Given the description of an element on the screen output the (x, y) to click on. 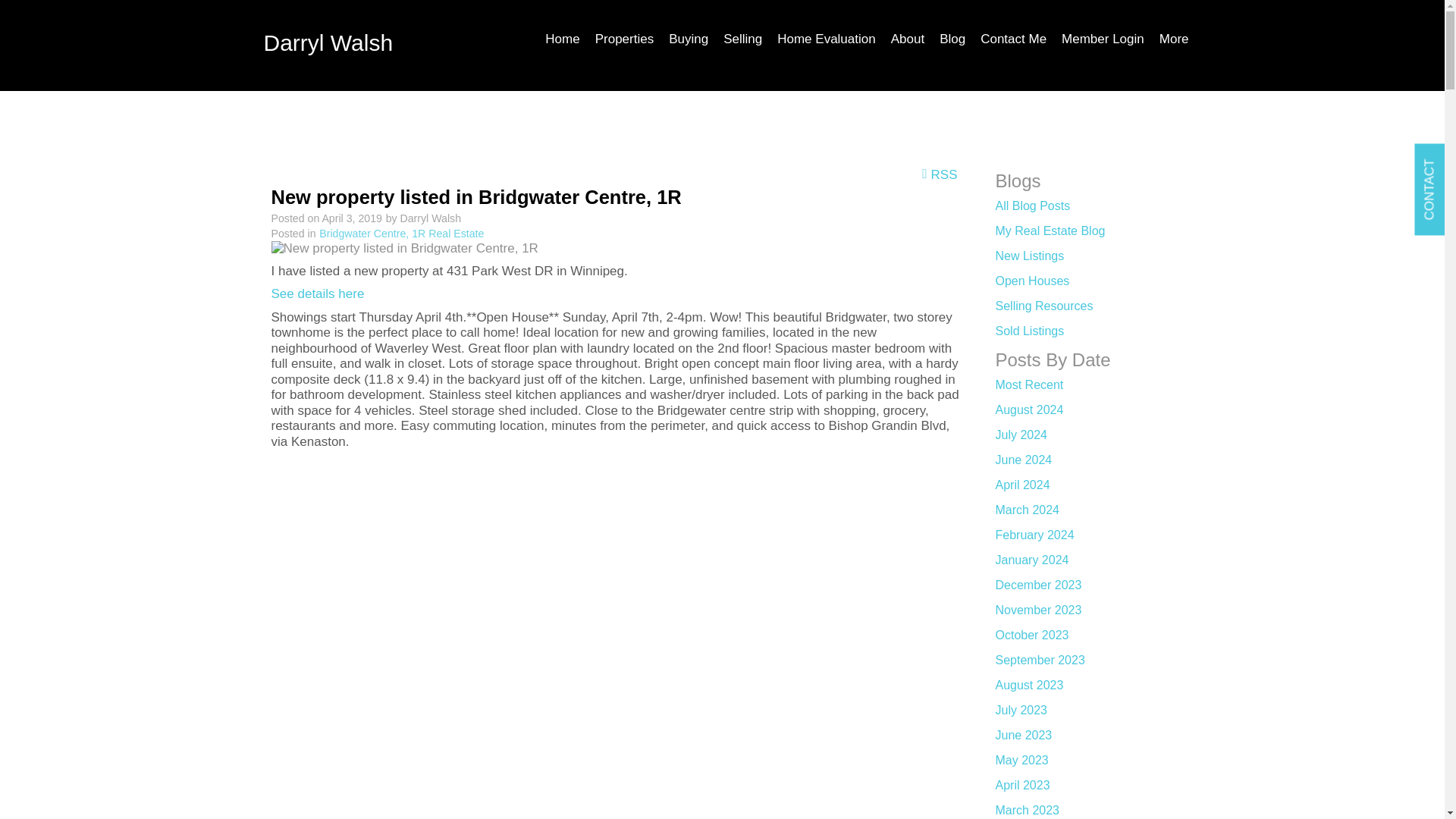
My Real Estate Blog (1049, 230)
Selling (743, 44)
All Blog Posts (1032, 205)
Open Houses (1031, 280)
Selling Resources (1043, 305)
Bridgwater Centre, 1R Real Estate (400, 233)
About (907, 44)
June 2024 (1022, 459)
Properties (624, 44)
New Listings (1029, 255)
